Given the description of an element on the screen output the (x, y) to click on. 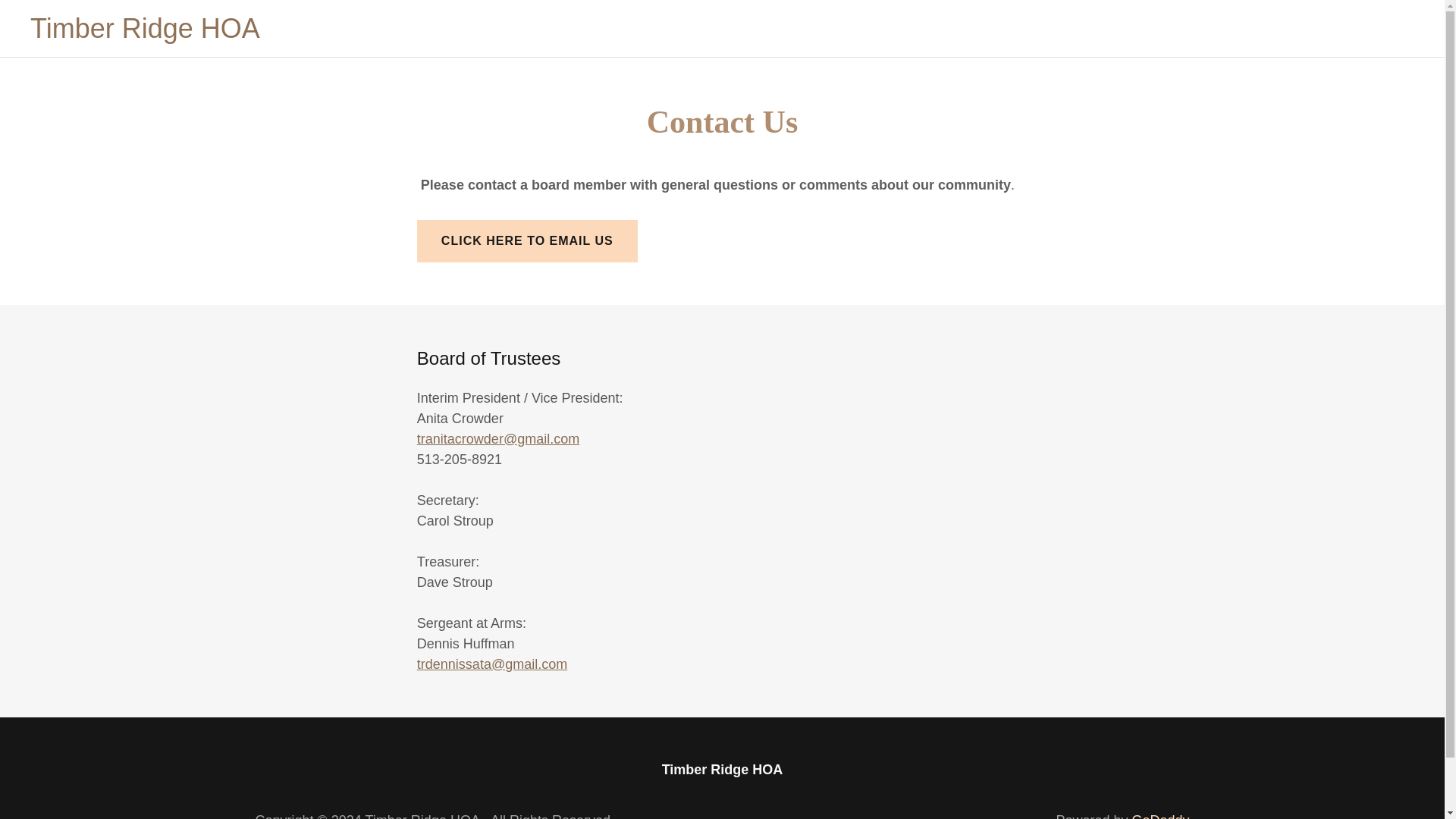
Timber Ridge HOA (145, 32)
CLICK HERE TO EMAIL US (526, 241)
GoDaddy (1160, 816)
Timber Ridge HOA (145, 32)
